Given the description of an element on the screen output the (x, y) to click on. 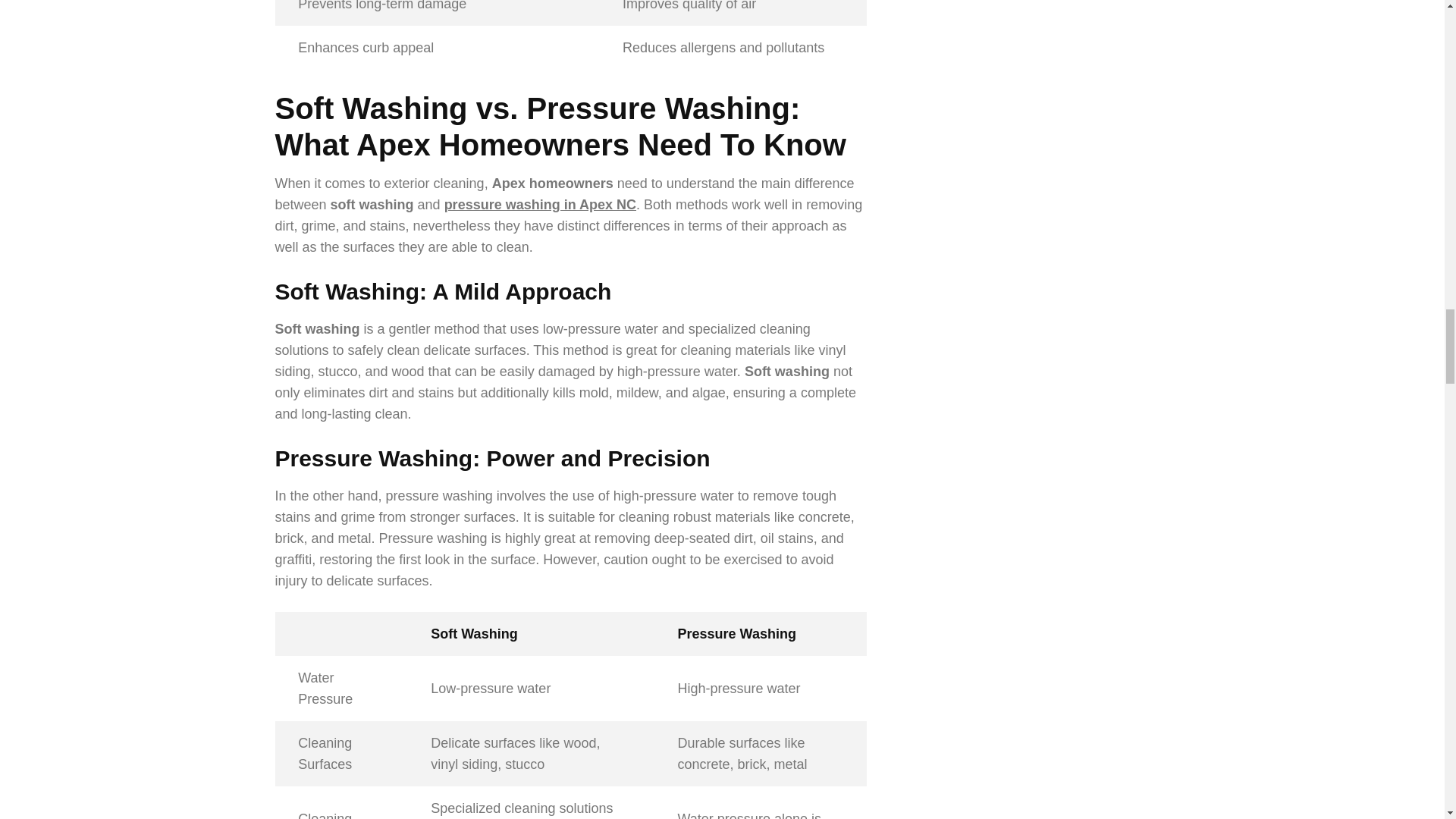
pressure washing in Apex NC (540, 204)
